Given the description of an element on the screen output the (x, y) to click on. 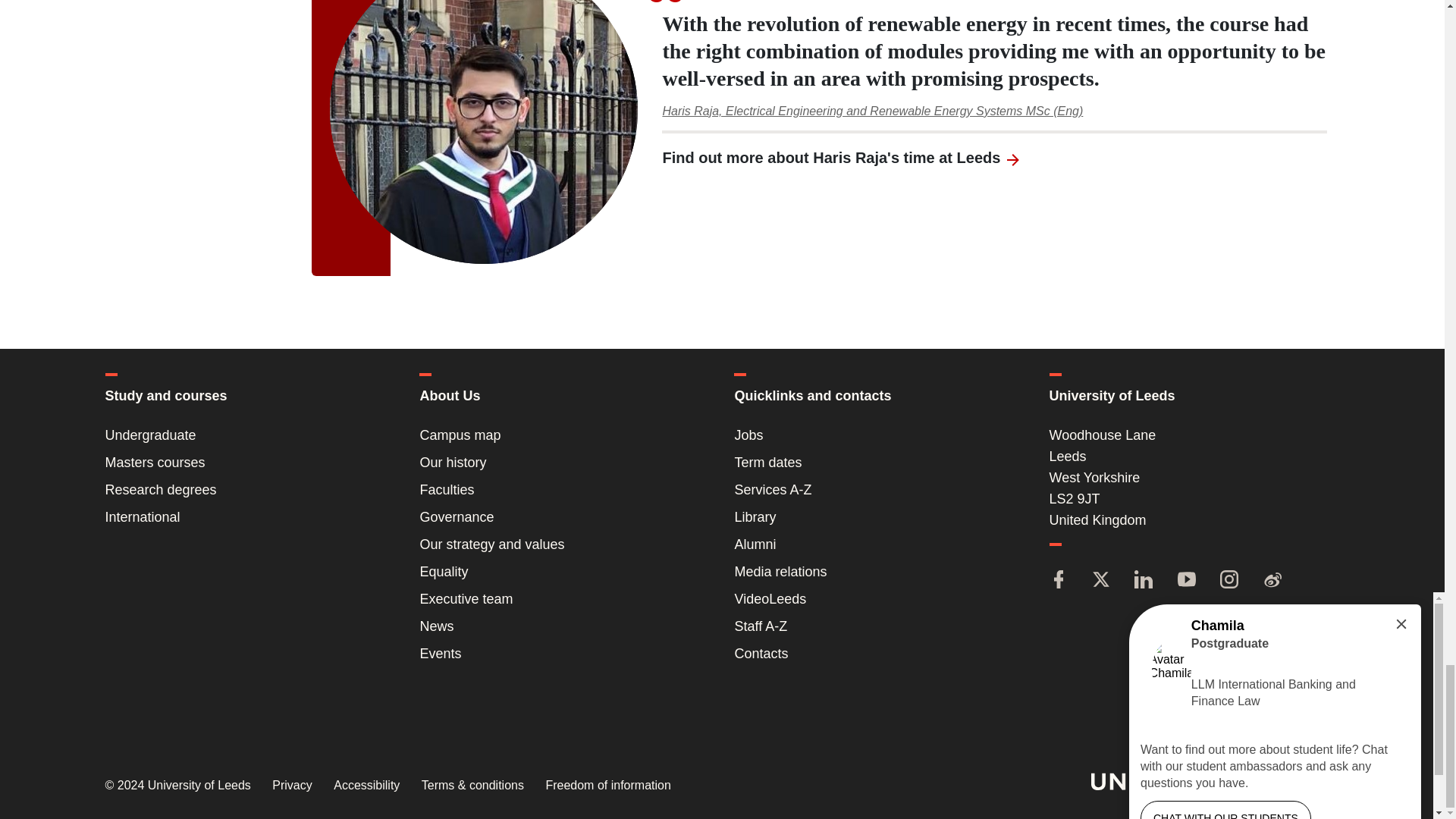
Go to Privacy page (291, 784)
Go to Freedom of information page (606, 784)
Go to Accessibility page (365, 784)
